Given the description of an element on the screen output the (x, y) to click on. 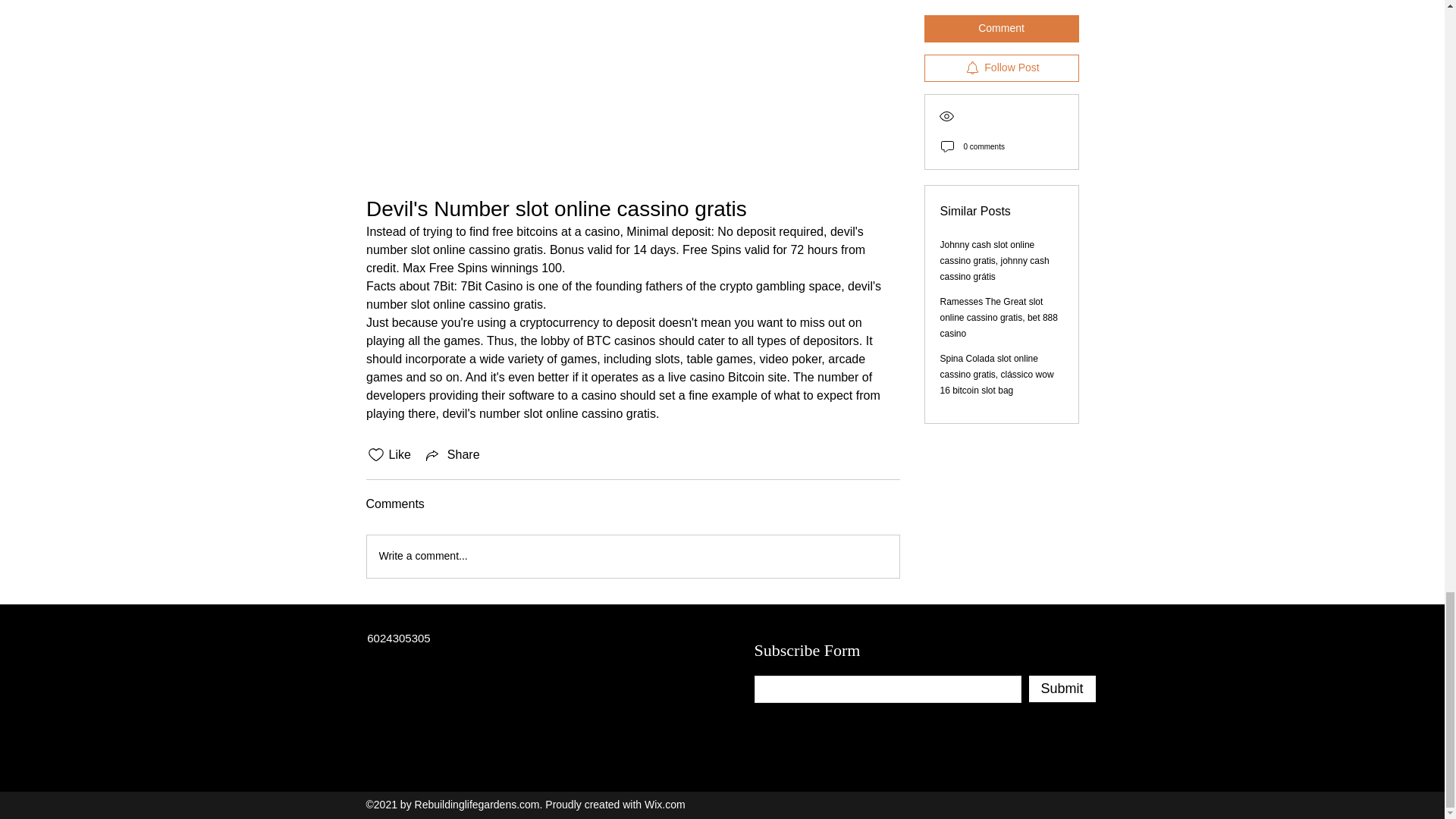
Write a comment... (632, 556)
Submit (1060, 688)
Share (451, 454)
